Given the description of an element on the screen output the (x, y) to click on. 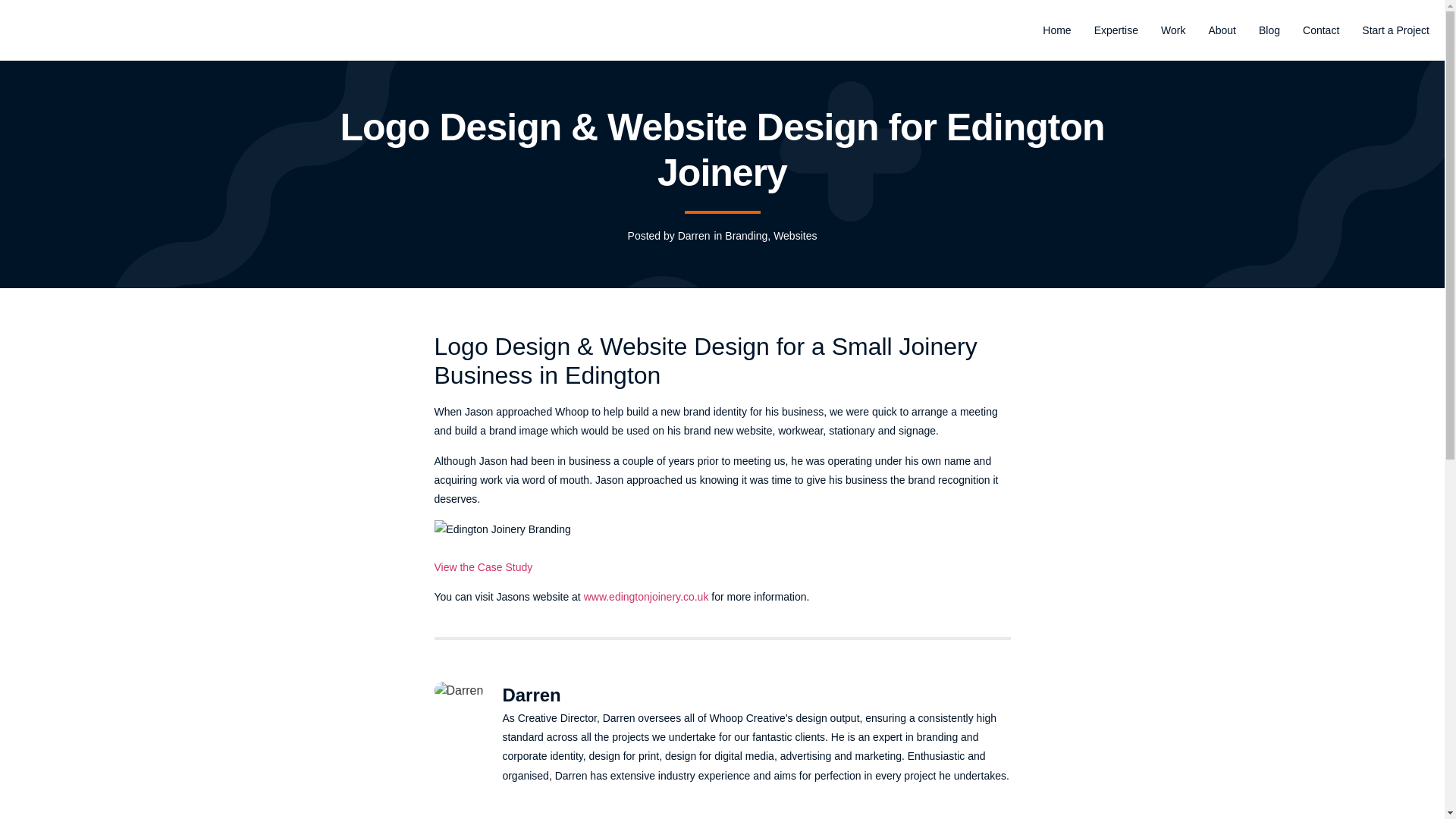
About (1222, 30)
View the Case Study (482, 576)
Home (1056, 30)
Expertise (1116, 30)
www.edingtonjoinery.co.uk (646, 596)
Start a Project (1395, 30)
Contact (1321, 30)
